Given the description of an element on the screen output the (x, y) to click on. 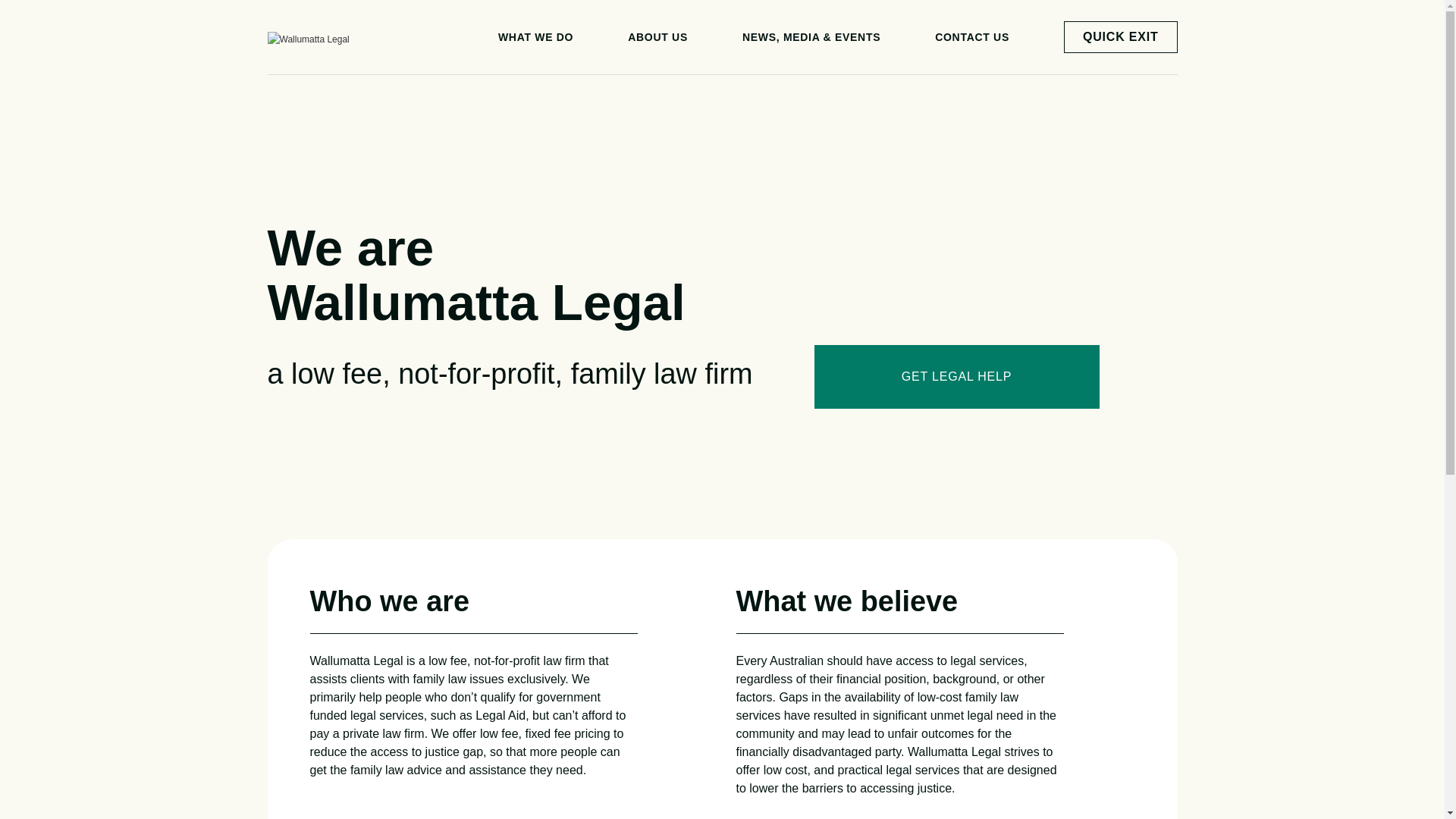
QUICK EXIT Element type: text (1120, 37)
CONTACT US Element type: text (972, 37)
NEWS, MEDIA & EVENTS Element type: text (811, 37)
GET LEGAL HELP Element type: text (956, 376)
ABOUT US Element type: text (657, 37)
WHAT WE DO Element type: text (535, 37)
